Given the description of an element on the screen output the (x, y) to click on. 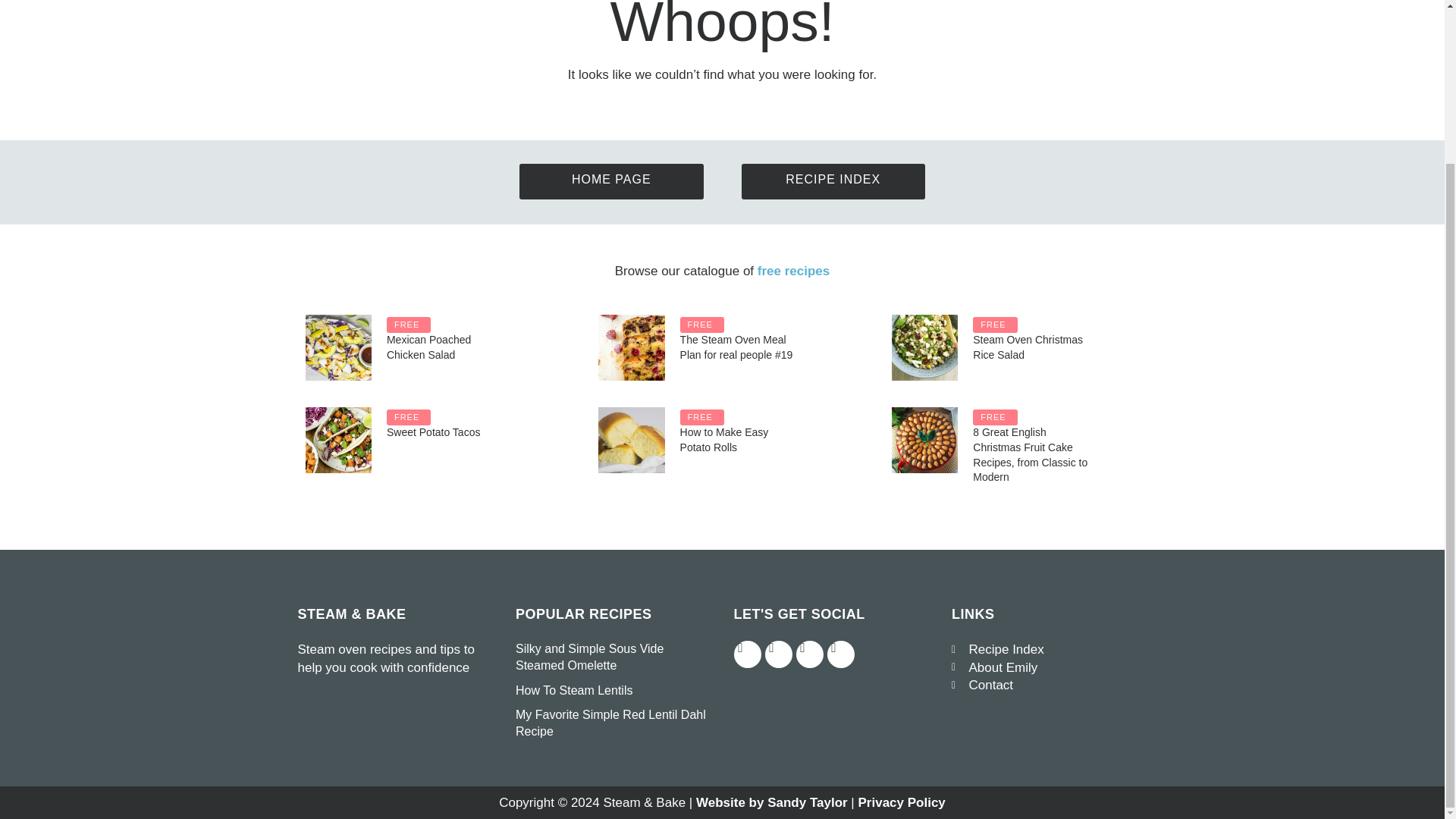
Mexican-chicken-salad-landscape-1 (337, 347)
FREE (701, 417)
FREE (994, 417)
FREE (701, 324)
free recipes (793, 270)
FREE (408, 417)
FREE (408, 324)
Old Fashioned Fruit Cake (924, 440)
RECIPE INDEX (833, 182)
FREE (994, 324)
